Given the description of an element on the screen output the (x, y) to click on. 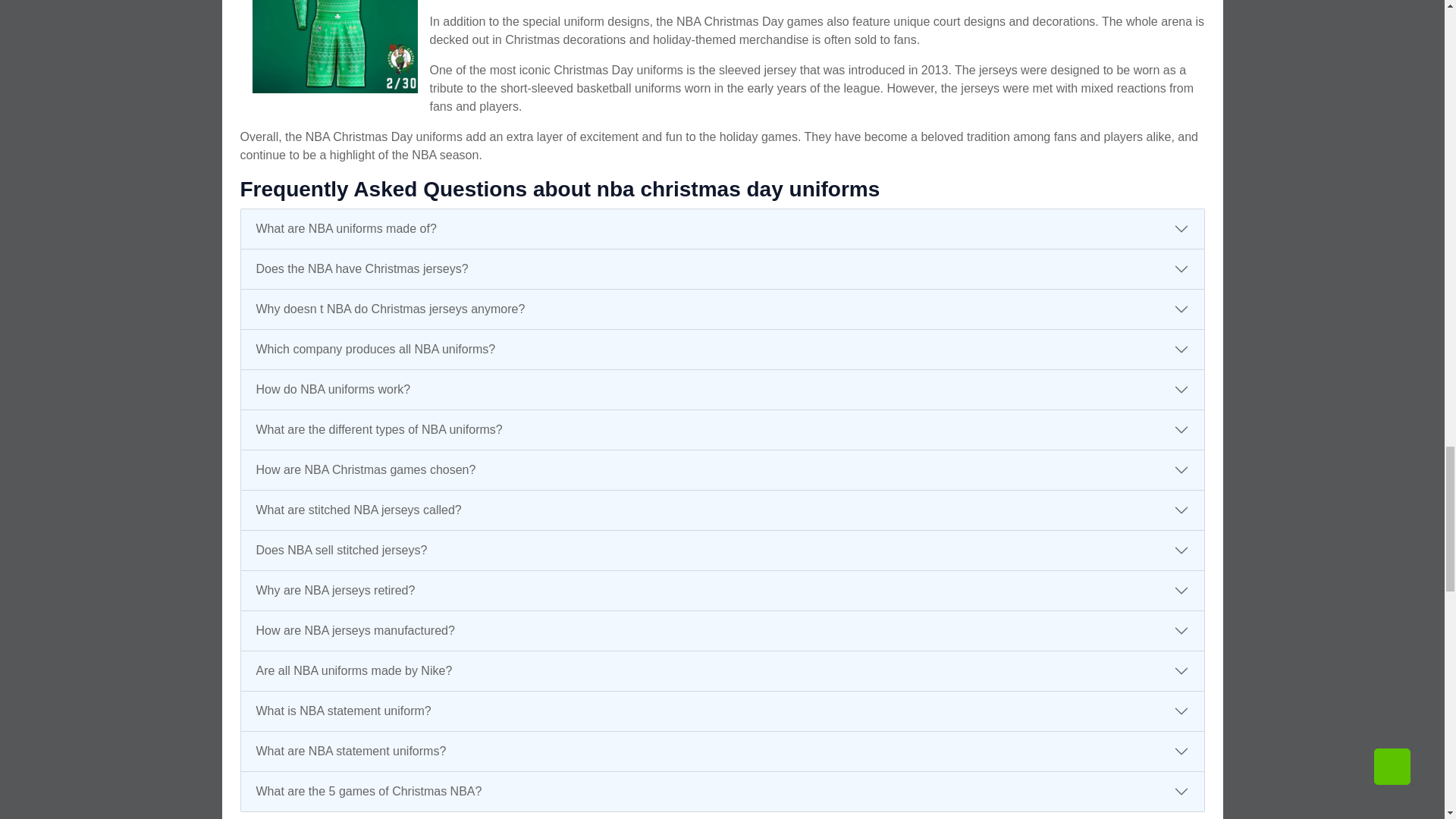
NBA Christmas Day Uniforms (334, 52)
What are NBA uniforms made of? (722, 228)
Which company produces all NBA uniforms? (722, 349)
Why doesn t NBA do Christmas jerseys anymore? (722, 309)
Does the NBA have Christmas jerseys? (722, 269)
